Given the description of an element on the screen output the (x, y) to click on. 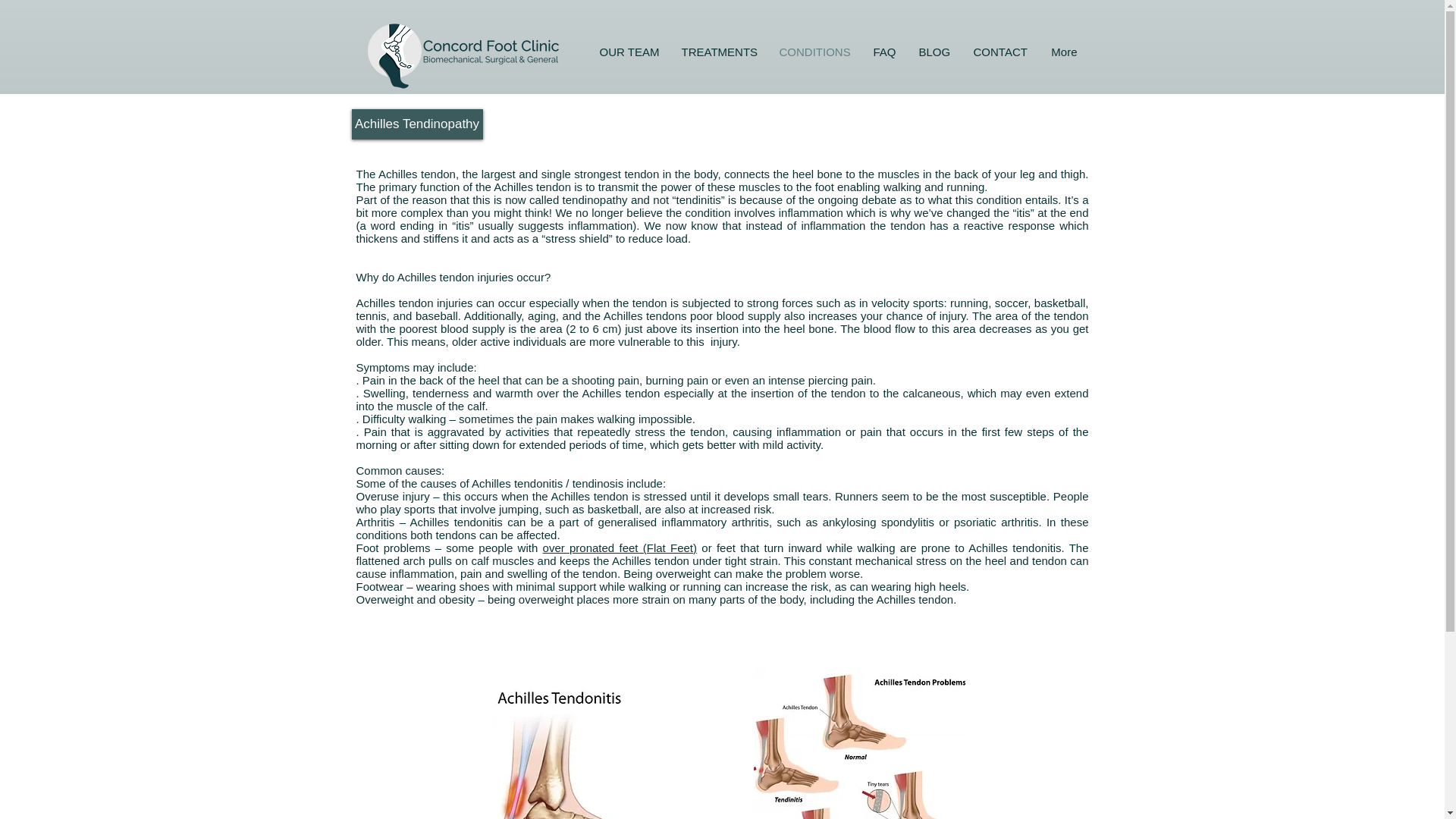
FAQ (884, 52)
TREATMENTS (717, 52)
CONTACT (999, 52)
CONDITIONS (814, 52)
OUR TEAM (627, 52)
BLOG (933, 52)
